Given the description of an element on the screen output the (x, y) to click on. 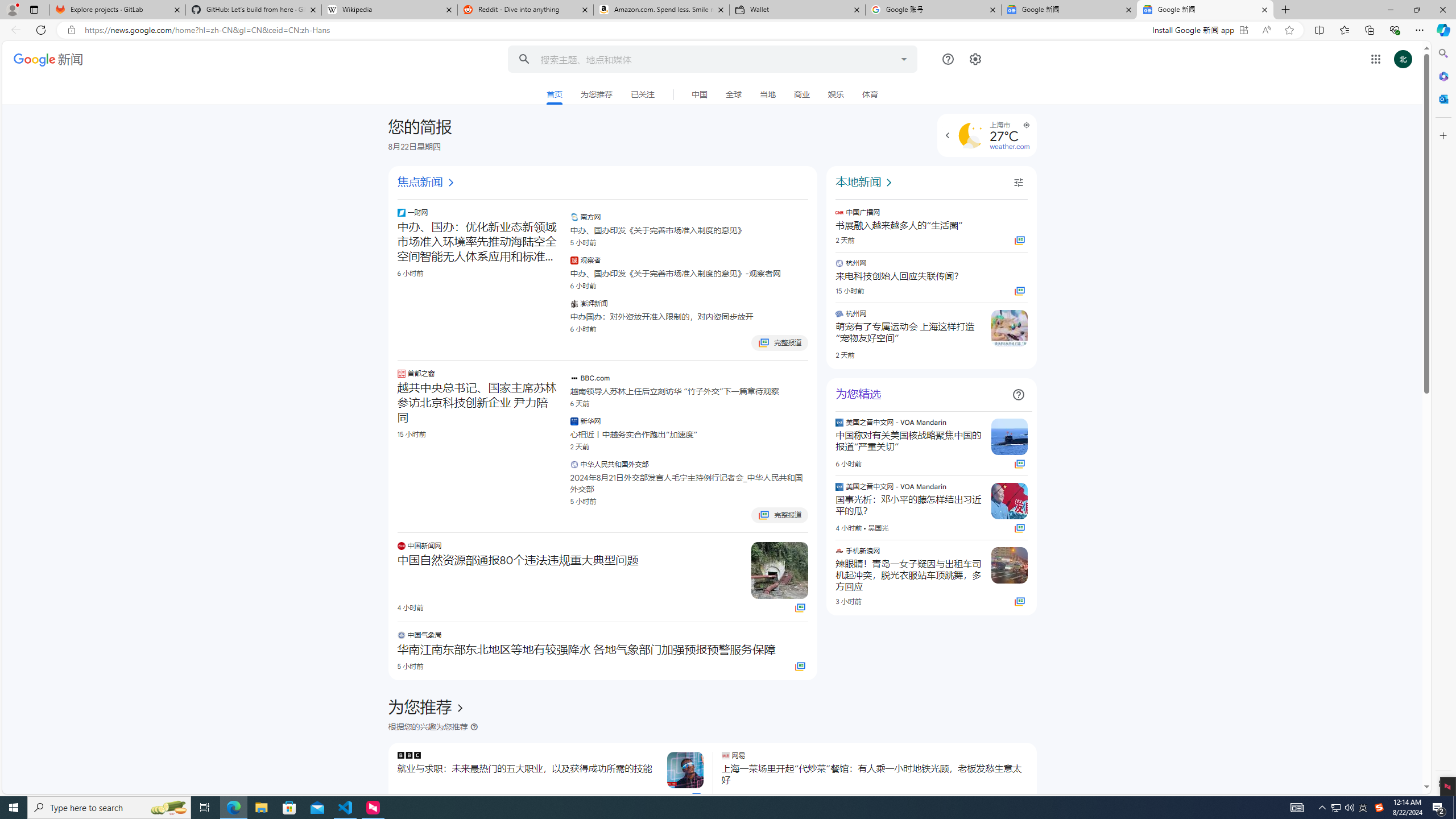
Class: YMQYob NMm5M hhikbc (459, 708)
